Given the description of an element on the screen output the (x, y) to click on. 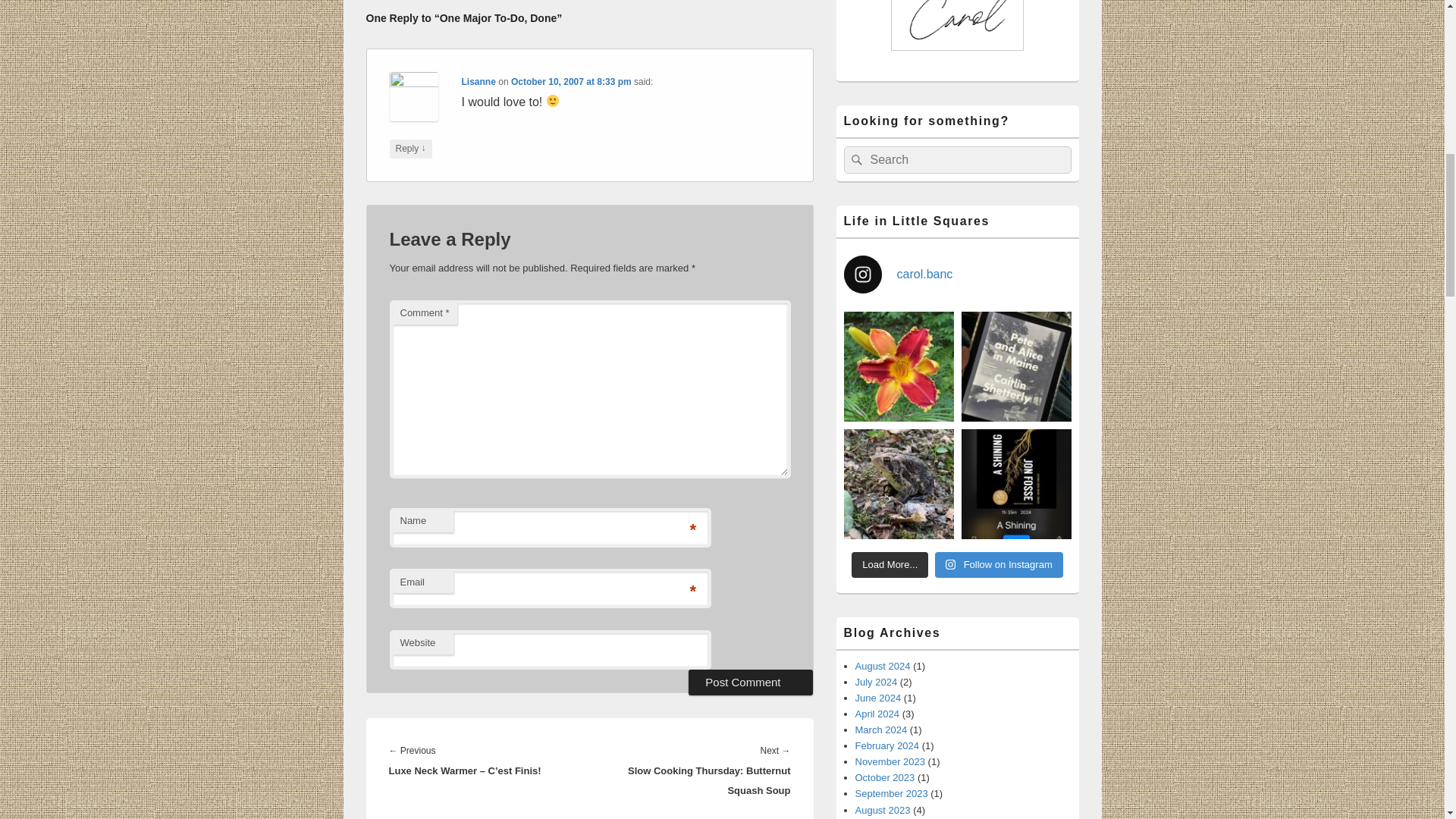
Load More... (889, 565)
Lisanne (478, 81)
October 2023 (885, 777)
October 10, 2007 at 8:33 pm (571, 81)
March 2024 (881, 729)
Follow on Instagram (998, 565)
Search for: (956, 159)
August 2024 (883, 665)
June 2024 (878, 697)
carol.banc (956, 274)
